Given the description of an element on the screen output the (x, y) to click on. 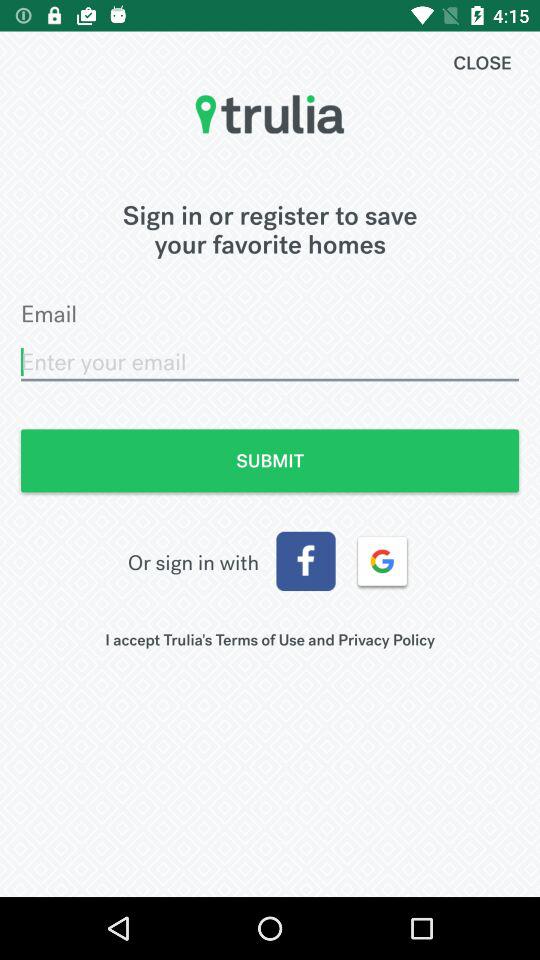
scroll to the close item (482, 62)
